Given the description of an element on the screen output the (x, y) to click on. 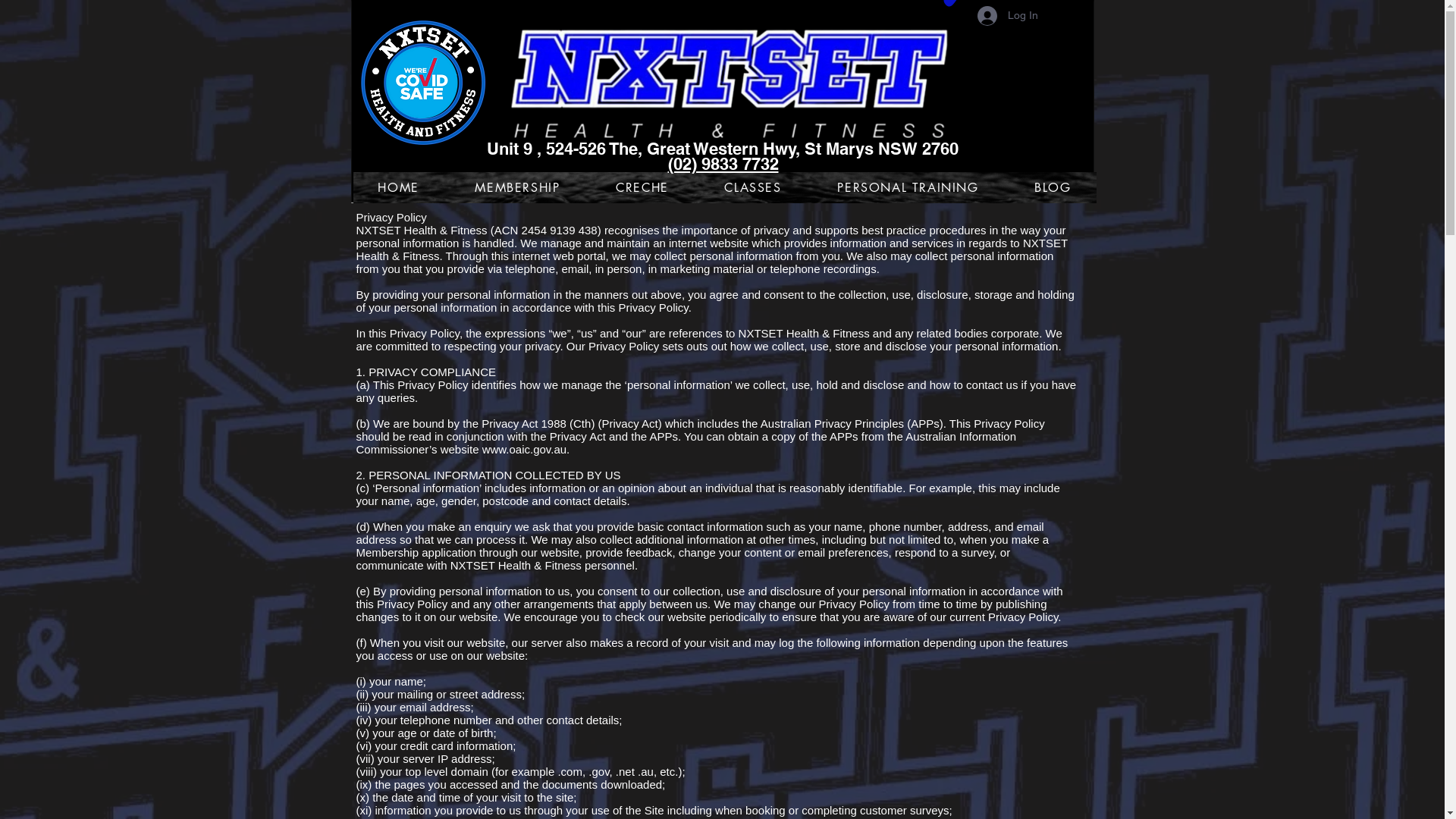
(02) 9833 7732 Element type: text (722, 163)
Log In Element type: text (1007, 15)
CRECHE Element type: text (641, 187)
PERSONAL TRAINING Element type: text (908, 187)
BLOG Element type: text (1052, 187)
CLASSES Element type: text (752, 187)
HOME Element type: text (398, 187)
MEMBERSHIP Element type: text (517, 187)
